Given the description of an element on the screen output the (x, y) to click on. 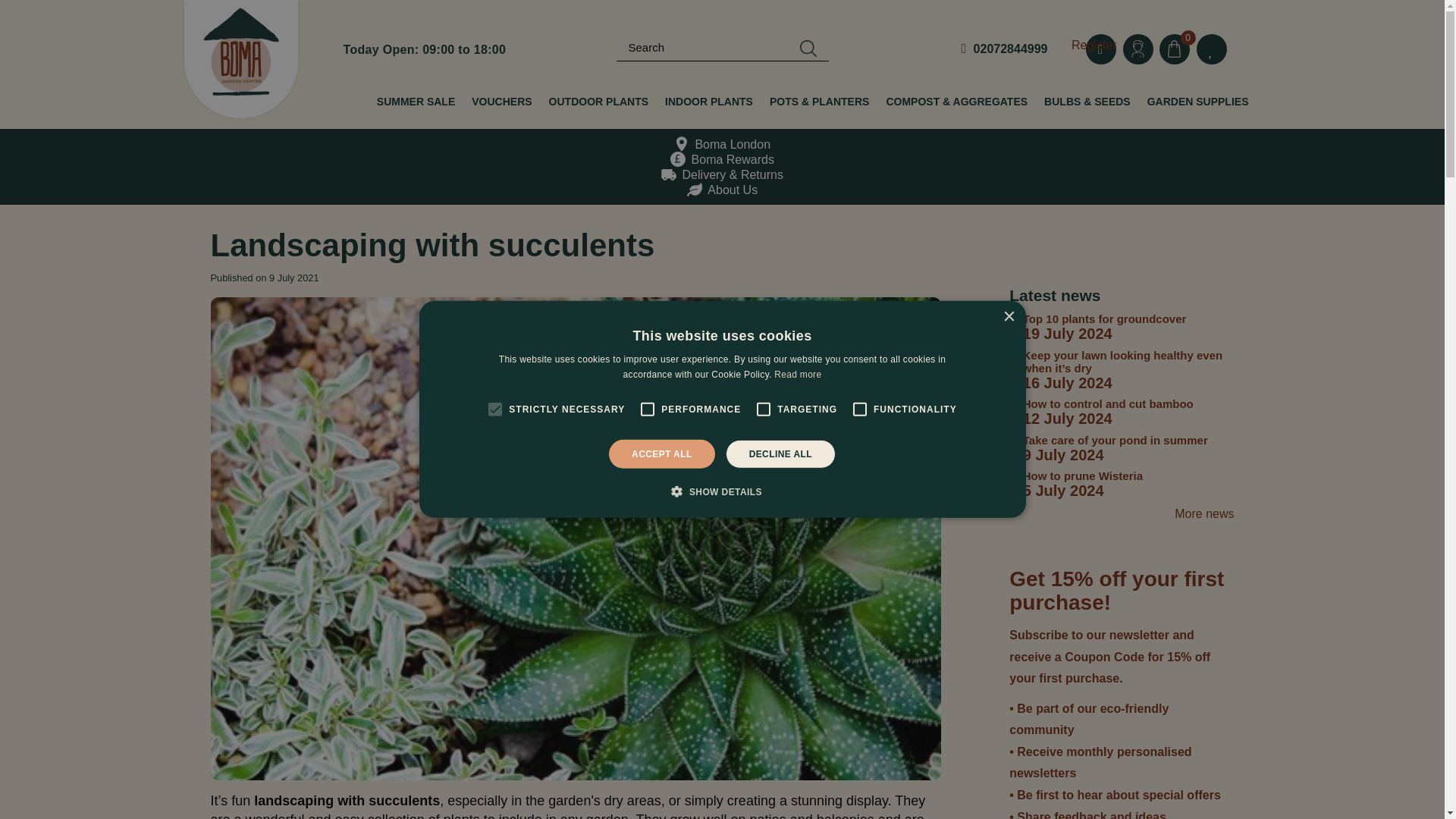
Go to the shopping cart (1179, 51)
OUTDOOR PLANTS (598, 101)
The Boma Garden Centre (240, 58)
Read the full news article at Boma Garden Centre. (318, 171)
Outdoor Plants (598, 101)
Go to the wishlist (1211, 49)
Landscaping with succulents (318, 171)
 02072844999 (1004, 49)
Search (807, 49)
Register (1093, 45)
Vouchers (501, 101)
Login (1137, 49)
News (234, 171)
VOUCHERS (501, 101)
